Given the description of an element on the screen output the (x, y) to click on. 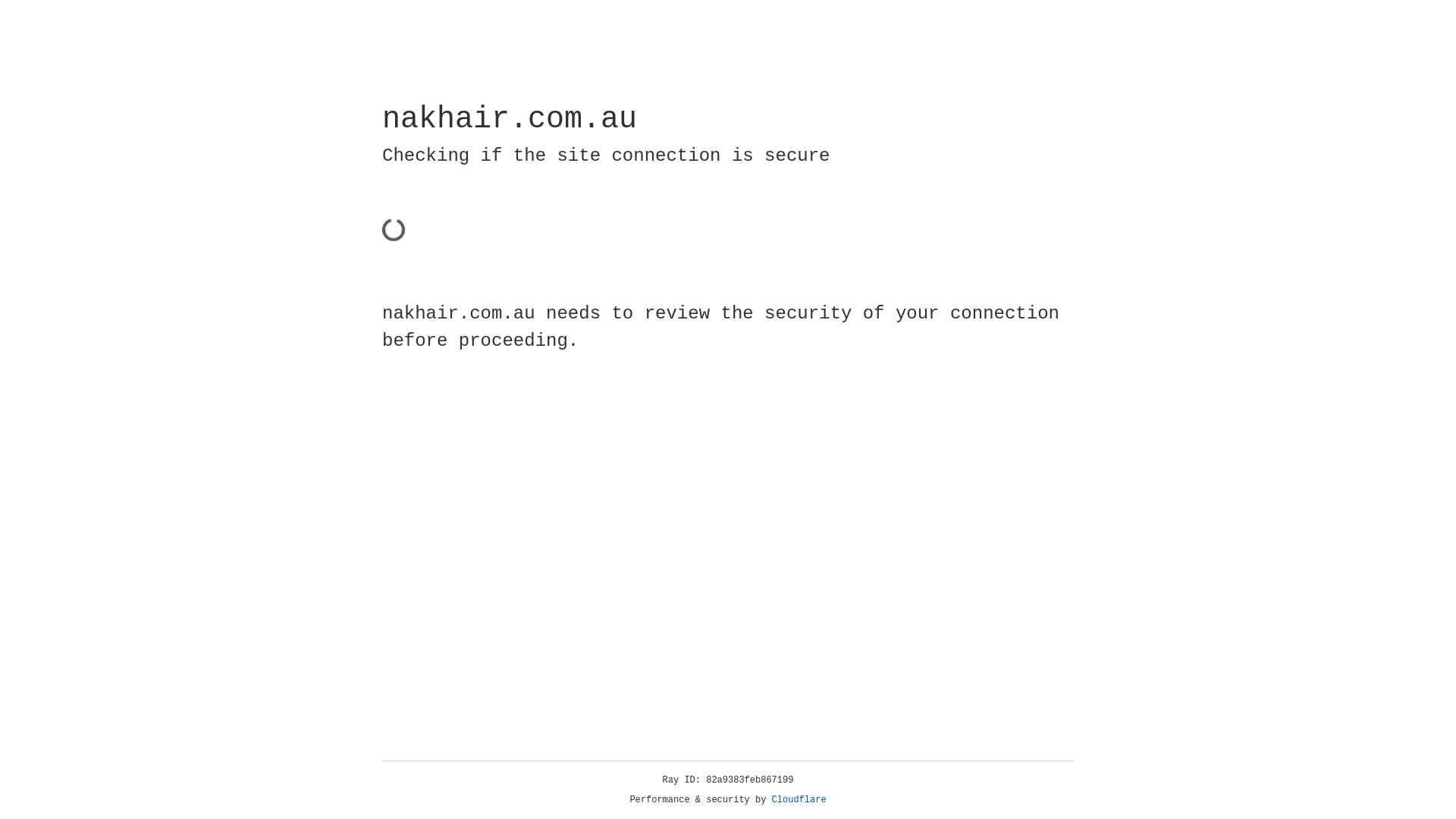
Cloudflare Element type: text (798, 799)
